Given the description of an element on the screen output the (x, y) to click on. 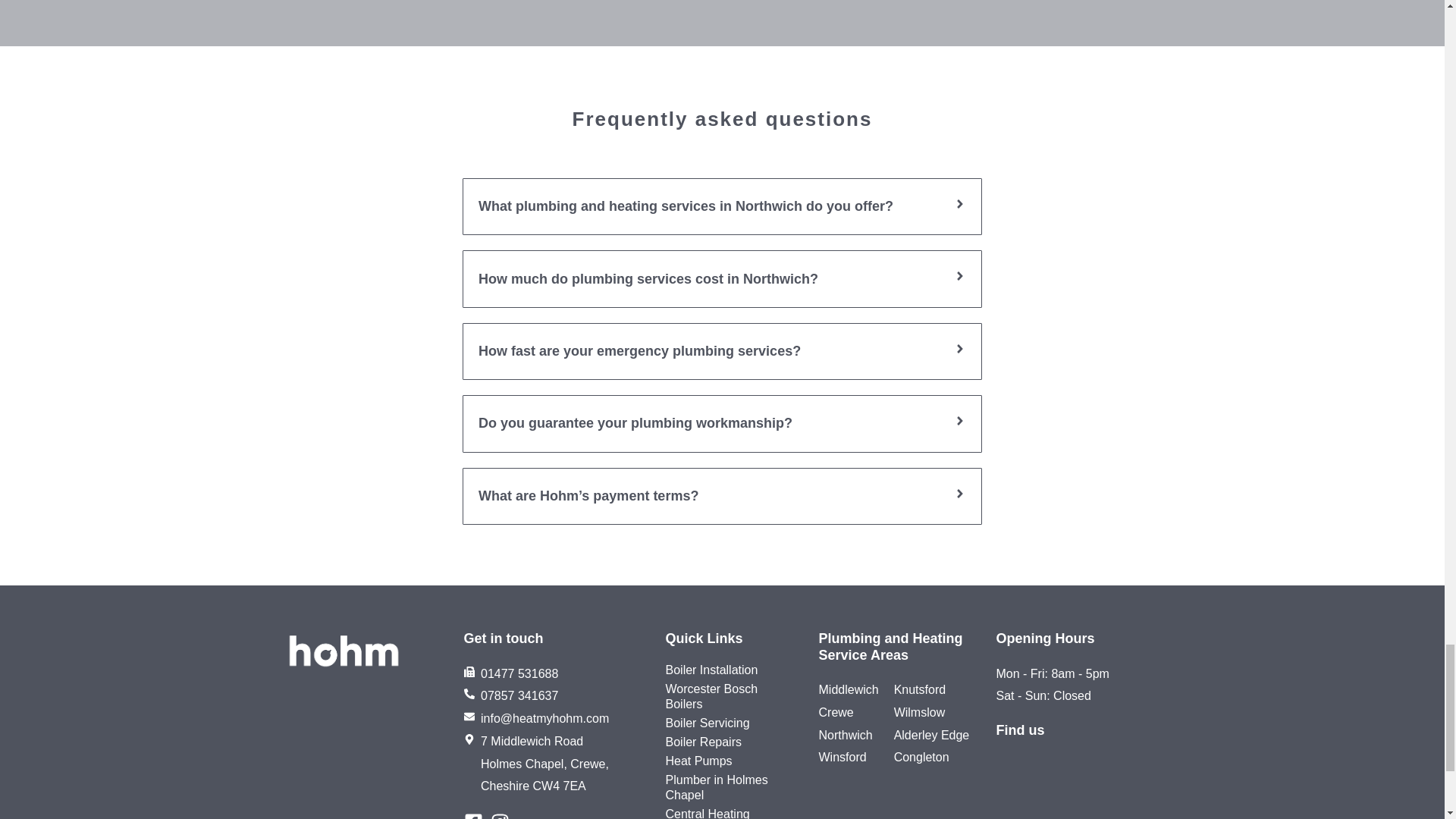
7 Middlewich Road Holmes Chapel, Crewe, Cheshire CW4 7EA (1076, 786)
